Given the description of an element on the screen output the (x, y) to click on. 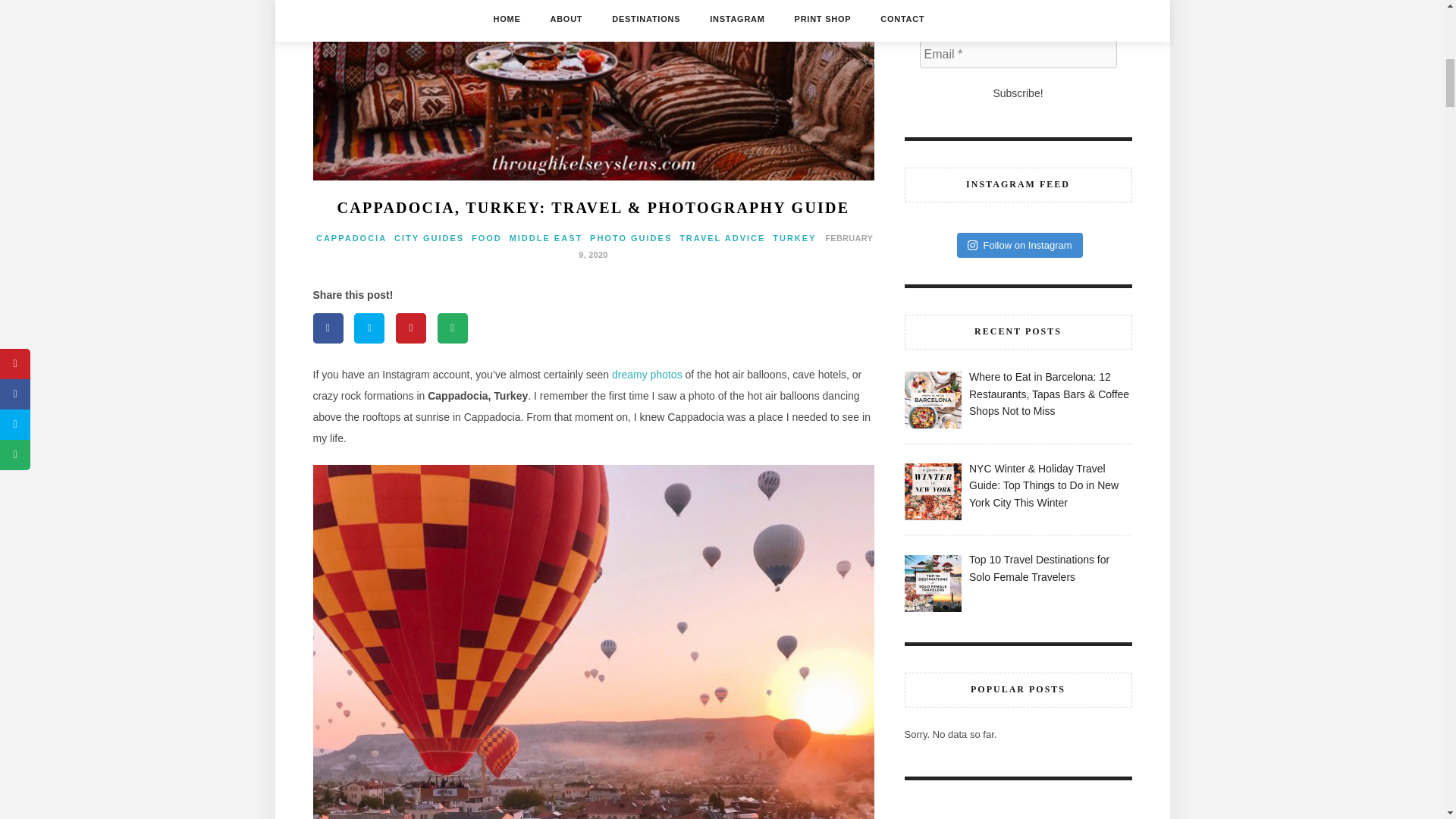
Email (1017, 53)
FOOD (486, 237)
Share on Twitter (368, 327)
CITY GUIDES (429, 237)
FEBRUARY 9, 2020 (725, 245)
Share on Facebook (327, 327)
Send over email (452, 327)
TURKEY (794, 237)
TRAVEL ADVICE (722, 237)
Save to Pinterest (411, 327)
